Given the description of an element on the screen output the (x, y) to click on. 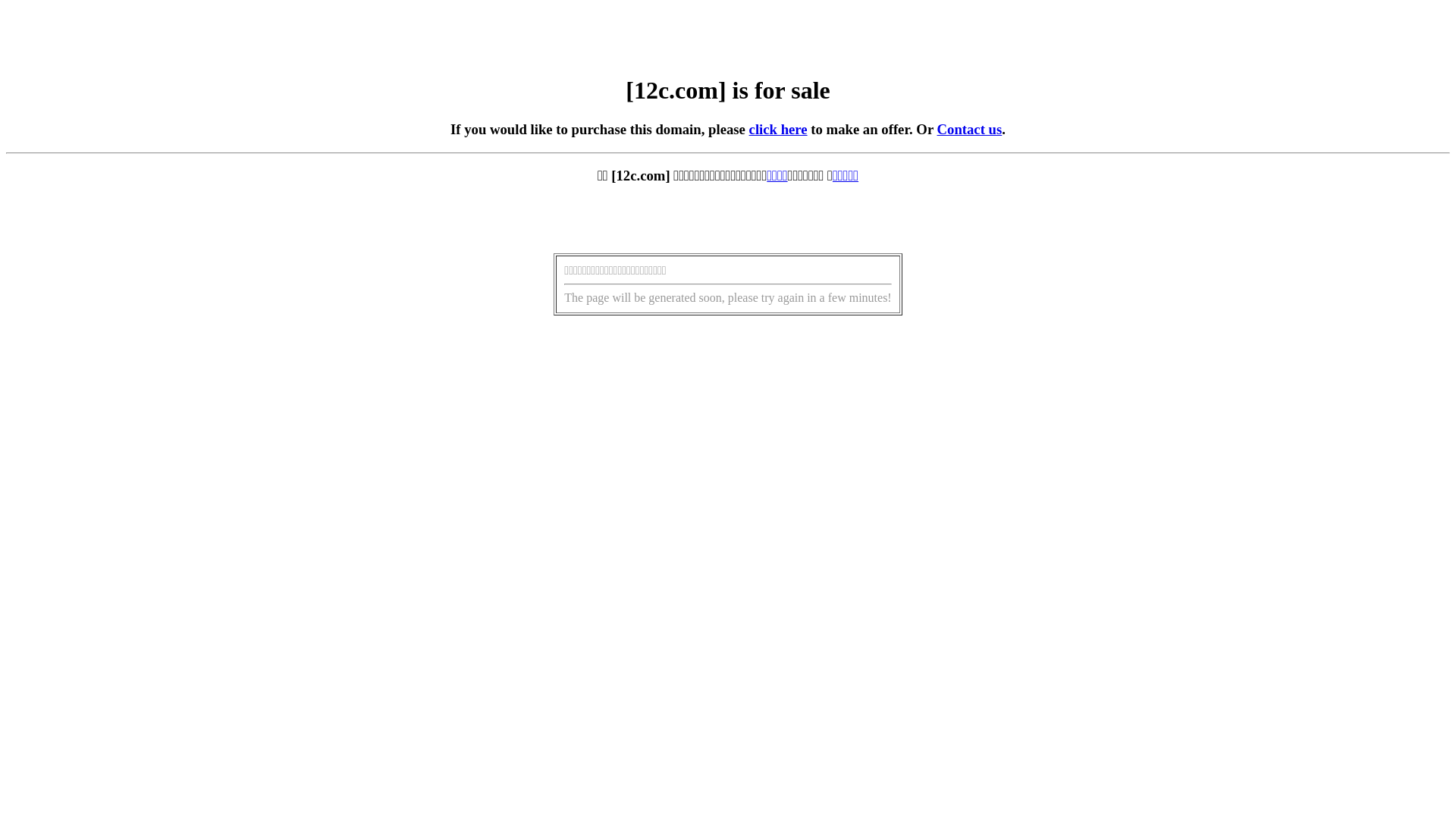
Contact us Element type: text (969, 129)
click here Element type: text (778, 129)
